Given the description of an element on the screen output the (x, y) to click on. 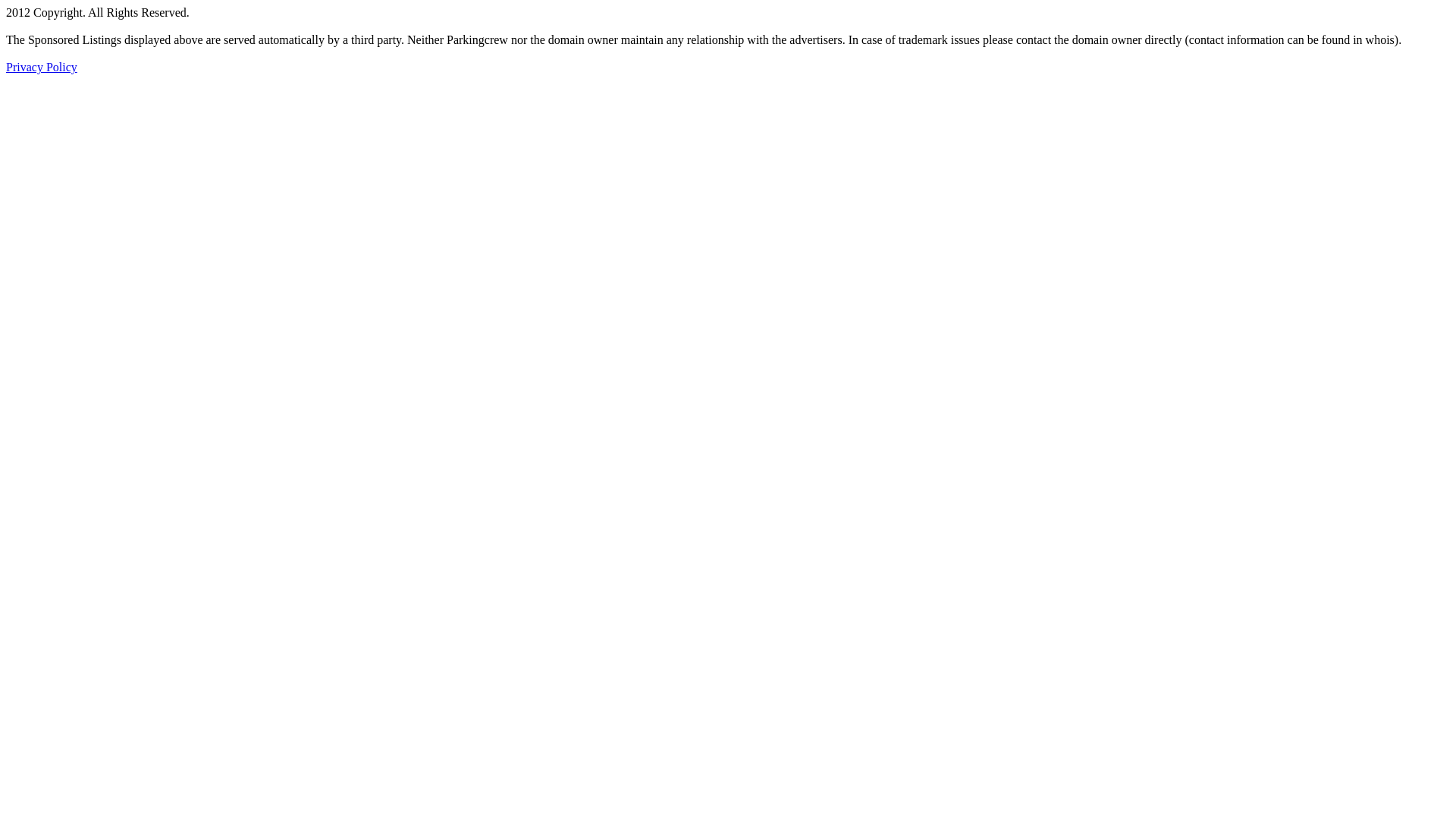
Privacy Policy Element type: text (41, 66)
